Given the description of an element on the screen output the (x, y) to click on. 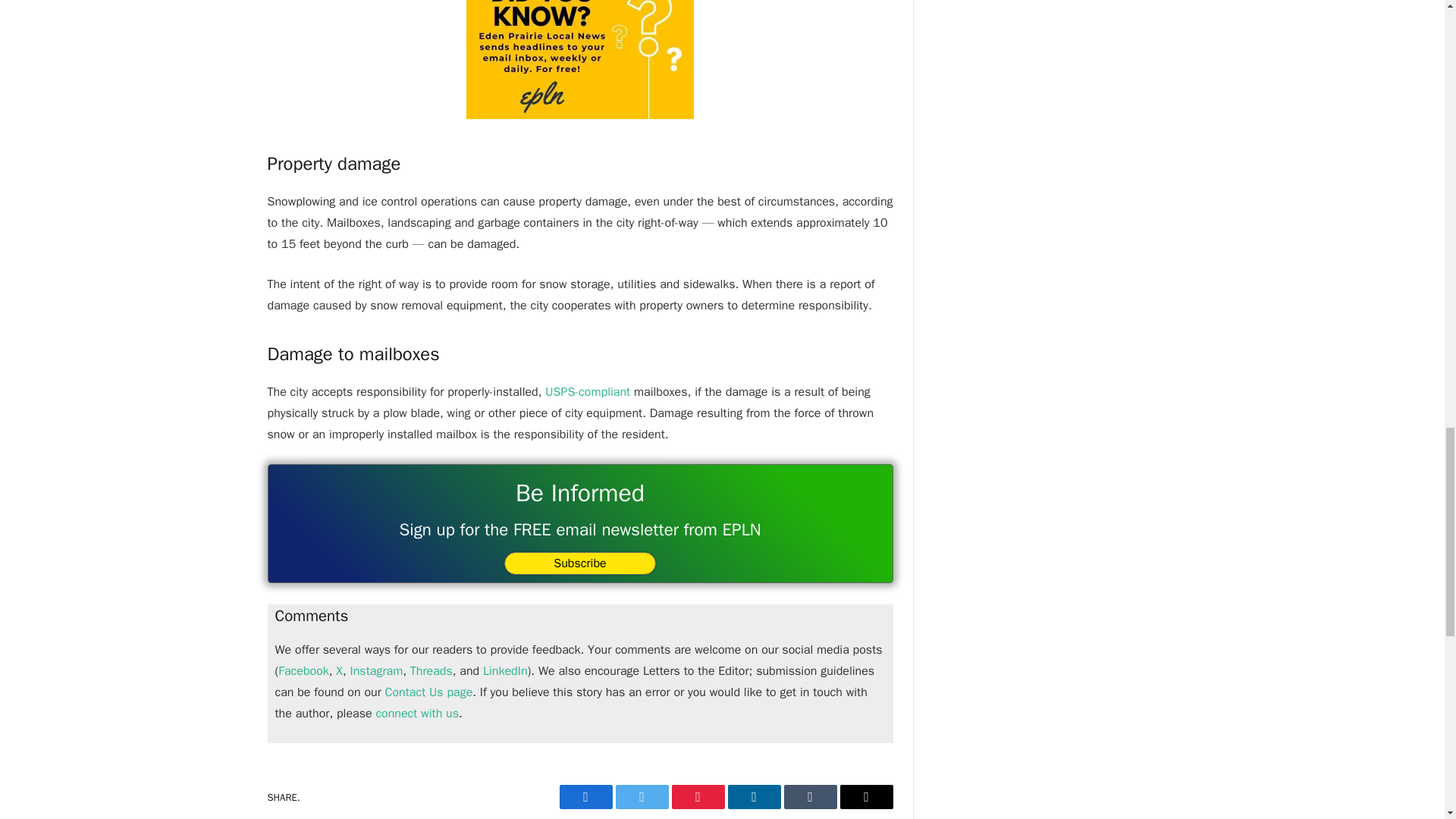
Share on Pinterest (698, 796)
Share on Facebook (585, 796)
Share via Email (866, 796)
Share on LinkedIn (754, 796)
Share on Tumblr (810, 796)
